Given the description of an element on the screen output the (x, y) to click on. 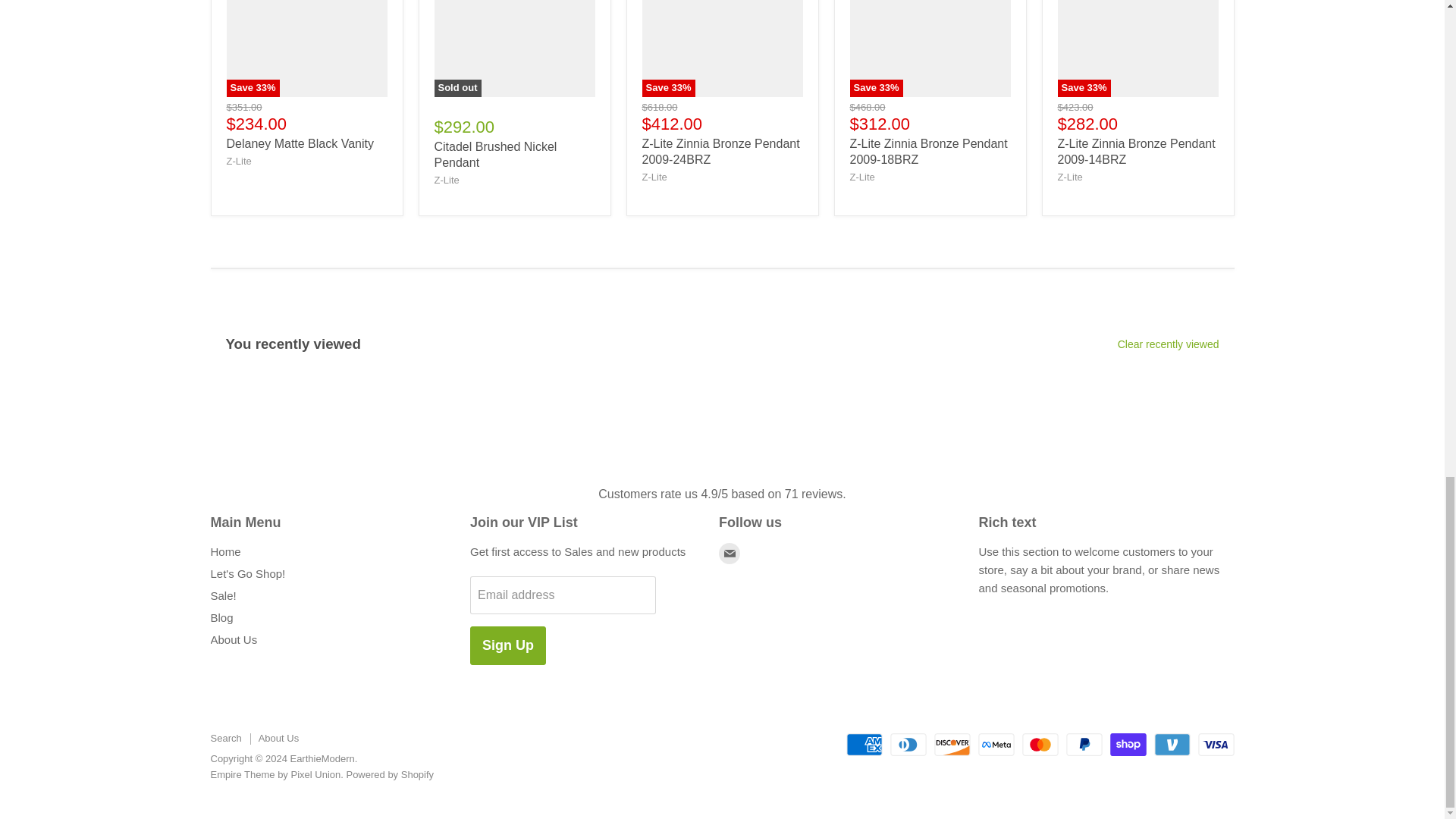
Meta Pay (996, 744)
Mastercard (1040, 744)
Visa (1216, 744)
Venmo (1172, 744)
Diners Club (907, 744)
Discover (952, 744)
Shop Pay (1128, 744)
American Express (863, 744)
PayPal (1083, 744)
E-mail (729, 553)
